Given the description of an element on the screen output the (x, y) to click on. 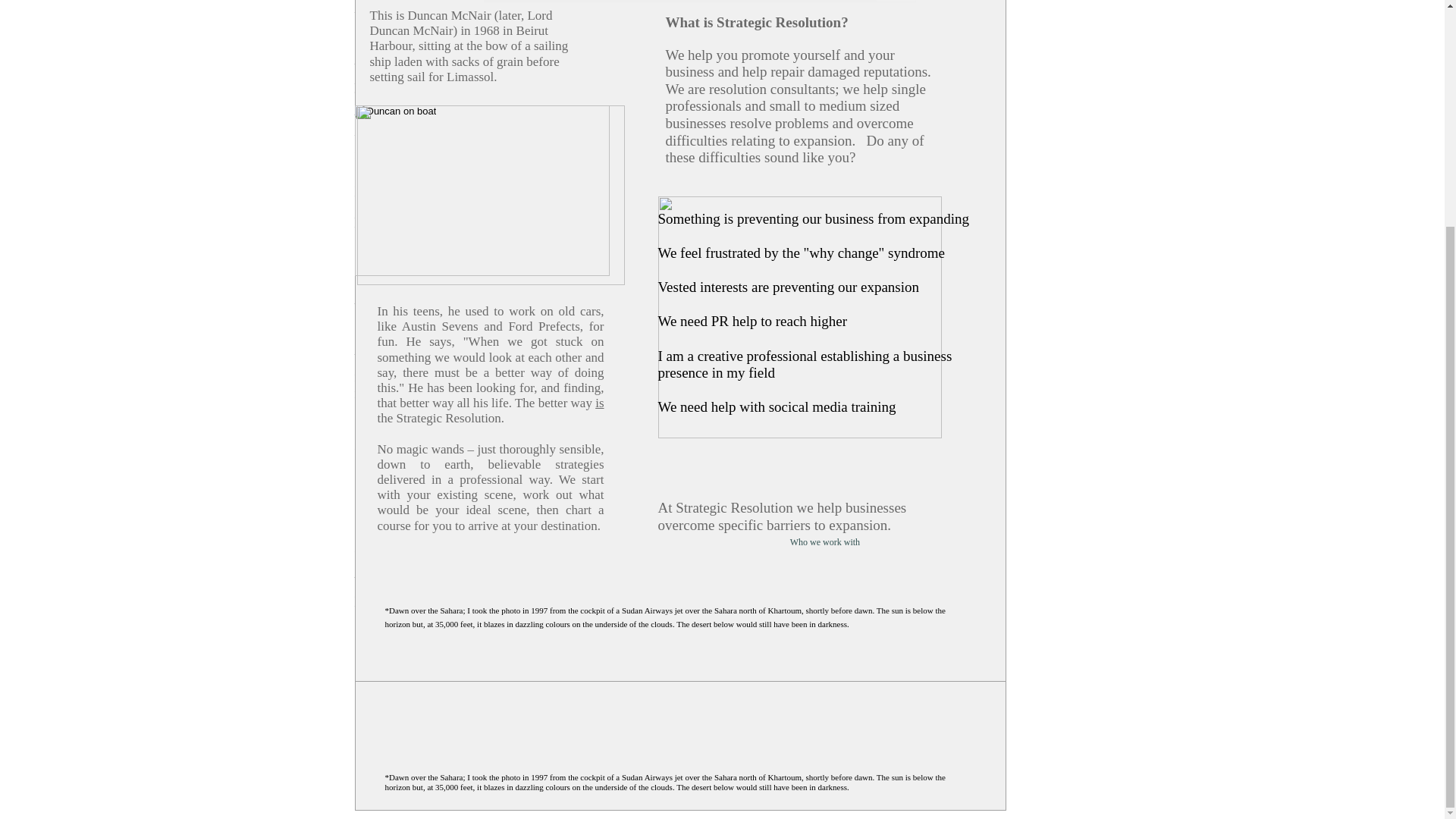
Our ideal clients (504, 600)
Our ideal clients (497, 190)
Who we work with (825, 542)
How we work (576, 600)
How we work (557, 190)
Duncan Beirut harbour 1968 -2 (395, 111)
